Given the description of an element on the screen output the (x, y) to click on. 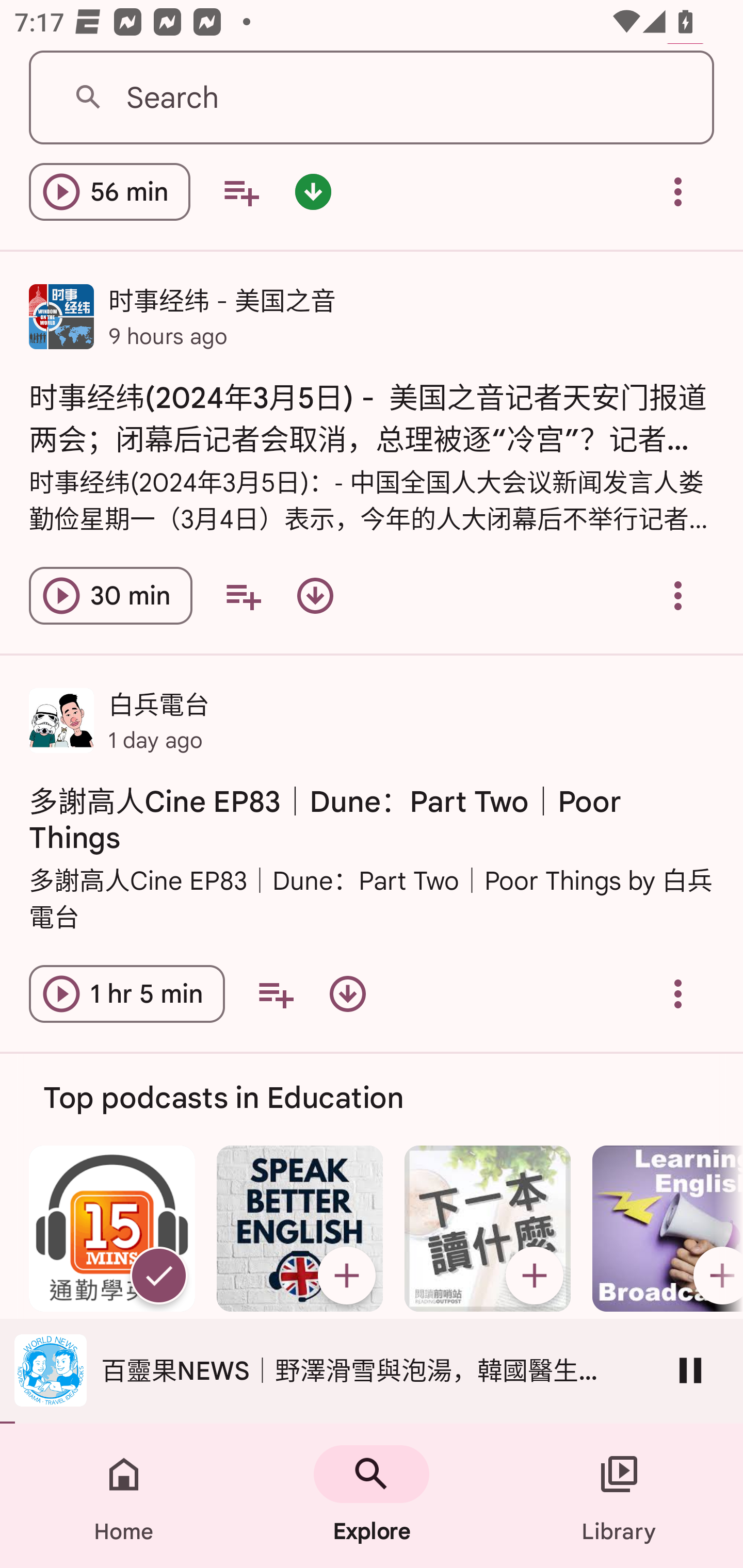
Search (371, 97)
Play episode EP200 溝通無效！！！ 56 min (109, 193)
Add to your queue (241, 193)
Episode downloaded - double tap for options 0.0 (313, 193)
Overflow menu (677, 193)
Add to your queue (242, 595)
Download episode (315, 595)
Overflow menu (677, 595)
Add to your queue (275, 994)
Download episode (347, 994)
Overflow menu (677, 994)
下一本讀什麼？ Subscribe 下一本讀什麼？ 閱讀前哨站 瓦基 (487, 1279)
Unsubscribe (158, 1275)
Subscribe (346, 1275)
Subscribe (534, 1275)
Subscribe (714, 1275)
Pause (690, 1370)
Home (123, 1495)
Library (619, 1495)
